Given the description of an element on the screen output the (x, y) to click on. 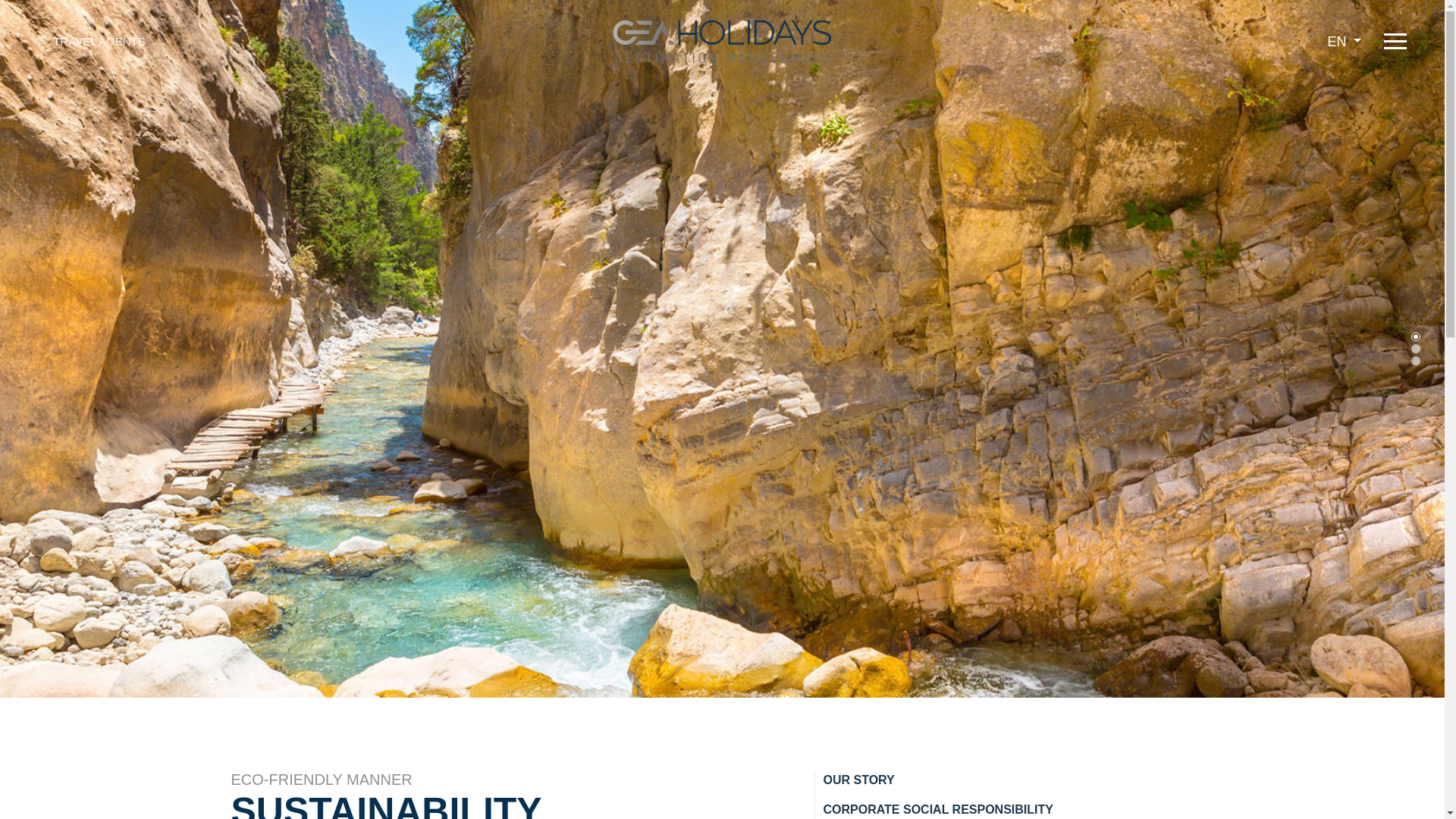
OUR STORY (857, 779)
EN (1343, 41)
TRAVEL AGENTS (91, 41)
